Given the description of an element on the screen output the (x, y) to click on. 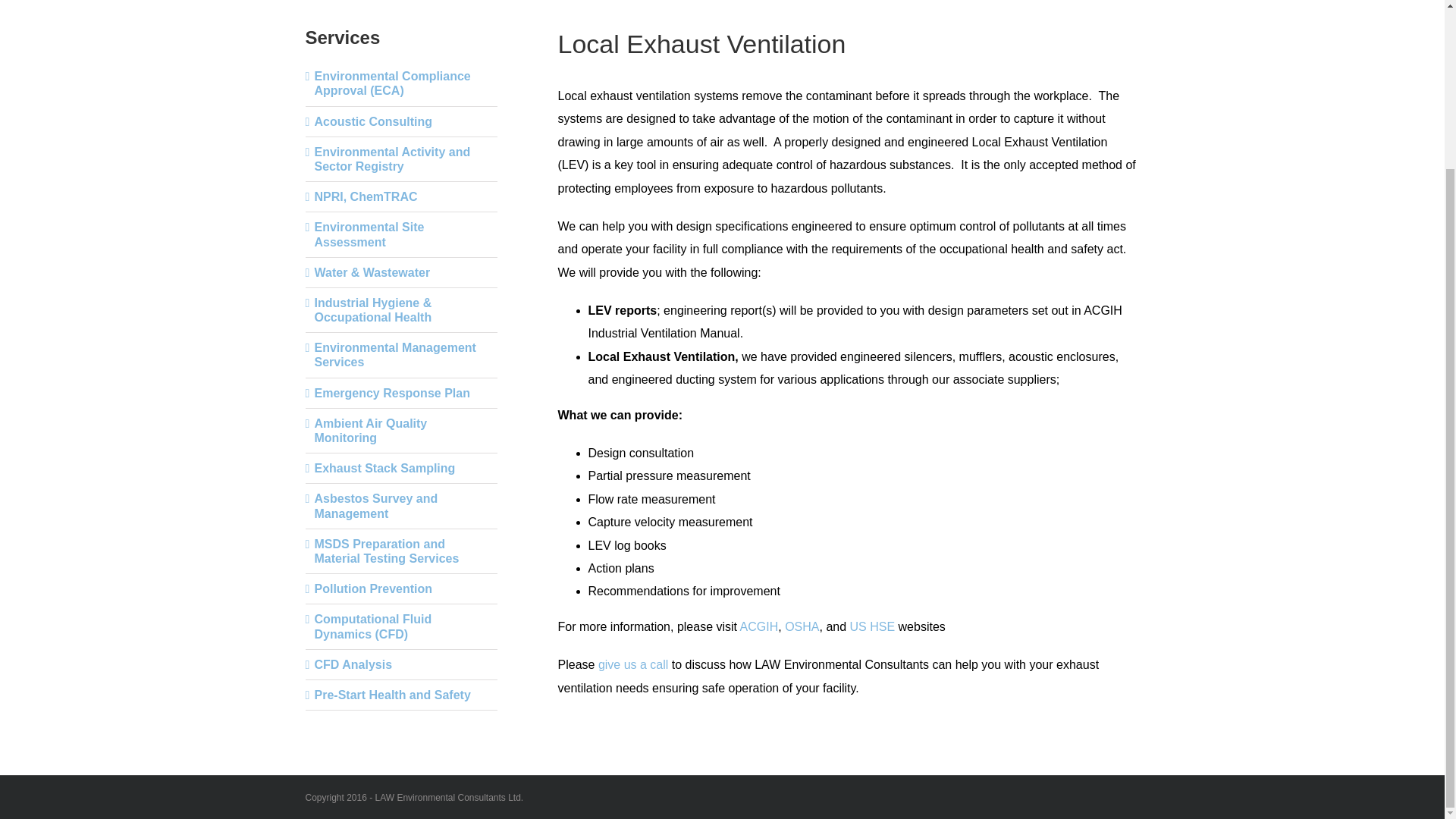
Exhaust Stack Sampling (384, 468)
Pollution Prevention (373, 588)
Environmental Management Services (395, 354)
Emergency Response Plan (391, 392)
Environmental Activity and Sector Registry (392, 158)
Asbestos Survey and Management (376, 505)
Acoustic Consulting (373, 121)
give us a call (633, 664)
ACGIH (758, 626)
NPRI, ChemTRAC (365, 196)
Environmental Site Assessment (368, 234)
CFD Analysis (352, 664)
US HSE (872, 626)
OSHA (801, 626)
Pre-Start Health and Safety (392, 694)
